Given the description of an element on the screen output the (x, y) to click on. 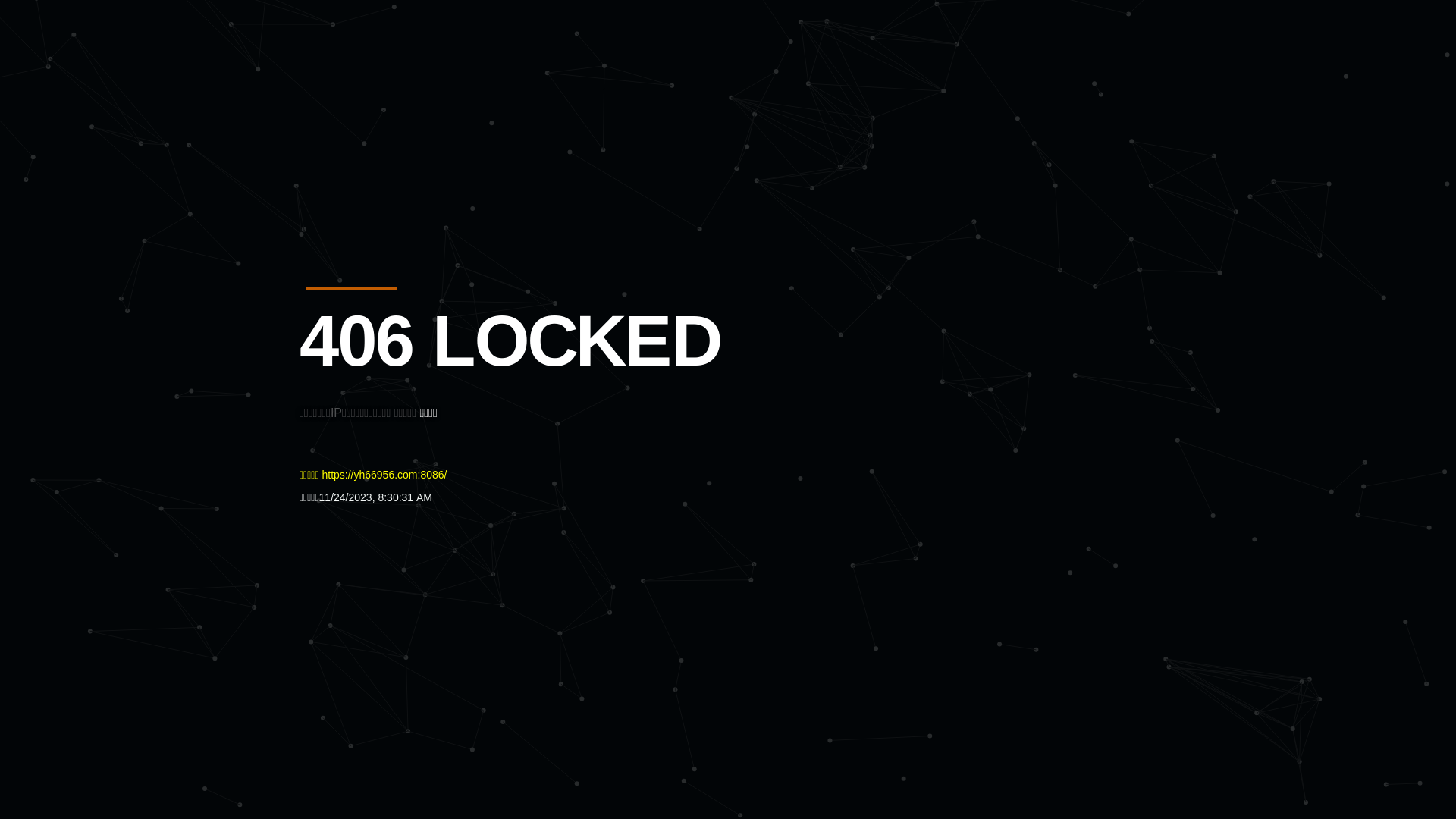
Quatro Element type: text (410, 86)
